Given the description of an element on the screen output the (x, y) to click on. 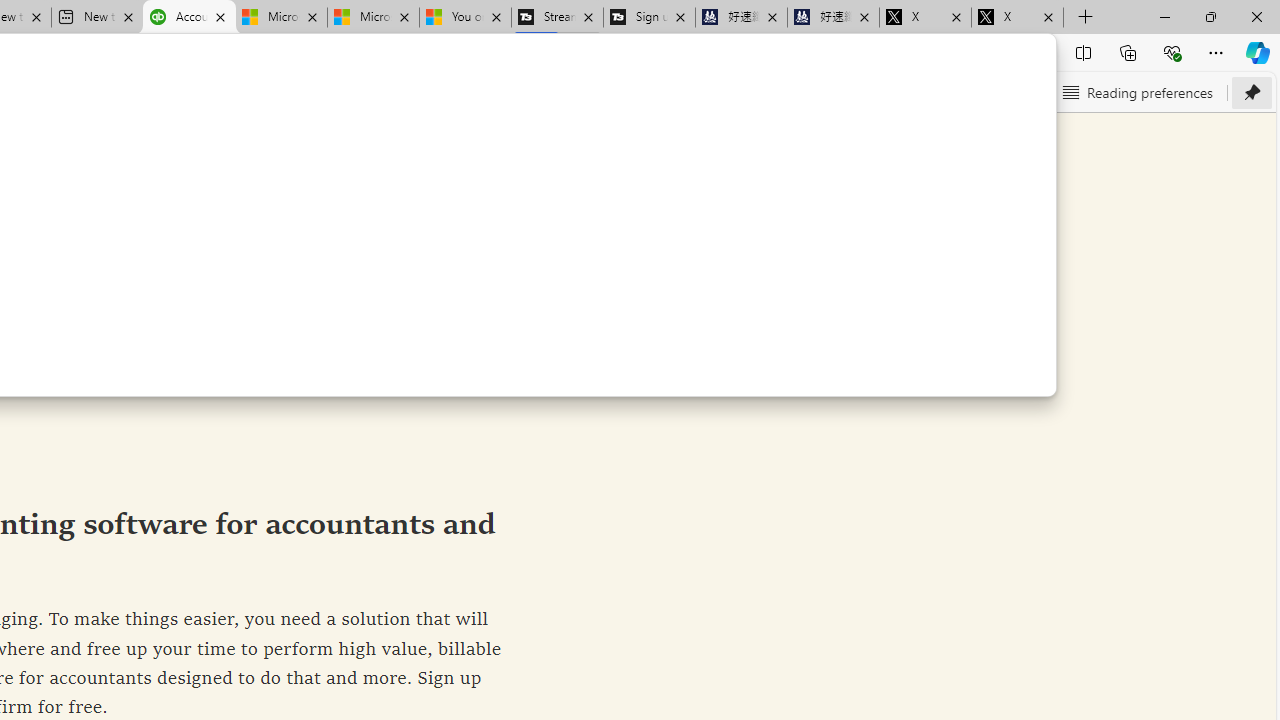
Accounting Software for Accountants, CPAs and Bookkeepers (189, 17)
Microsoft Start Sports (280, 17)
Read aloud (846, 92)
